Given the description of an element on the screen output the (x, y) to click on. 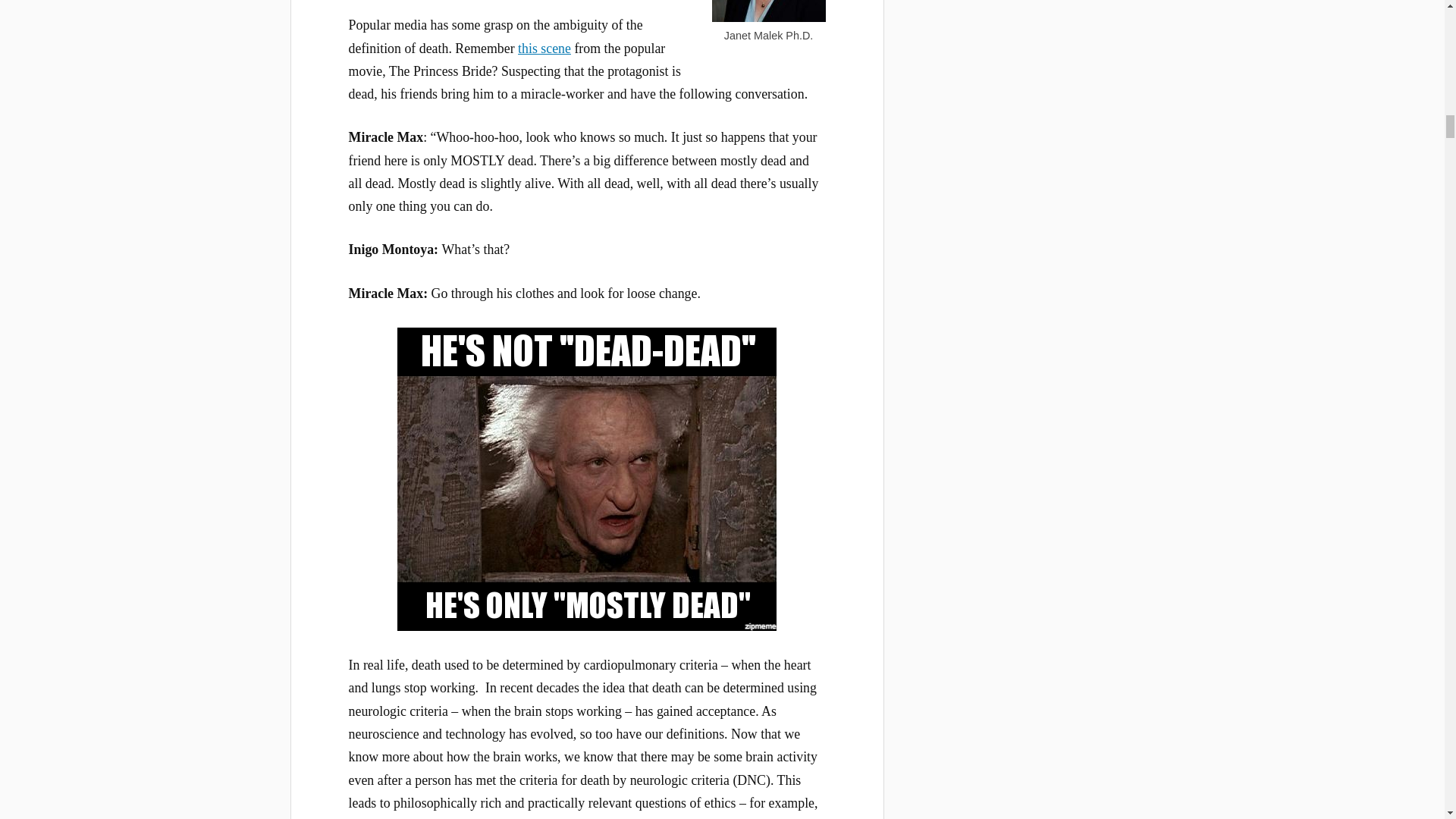
this scene (544, 48)
